Given the description of an element on the screen output the (x, y) to click on. 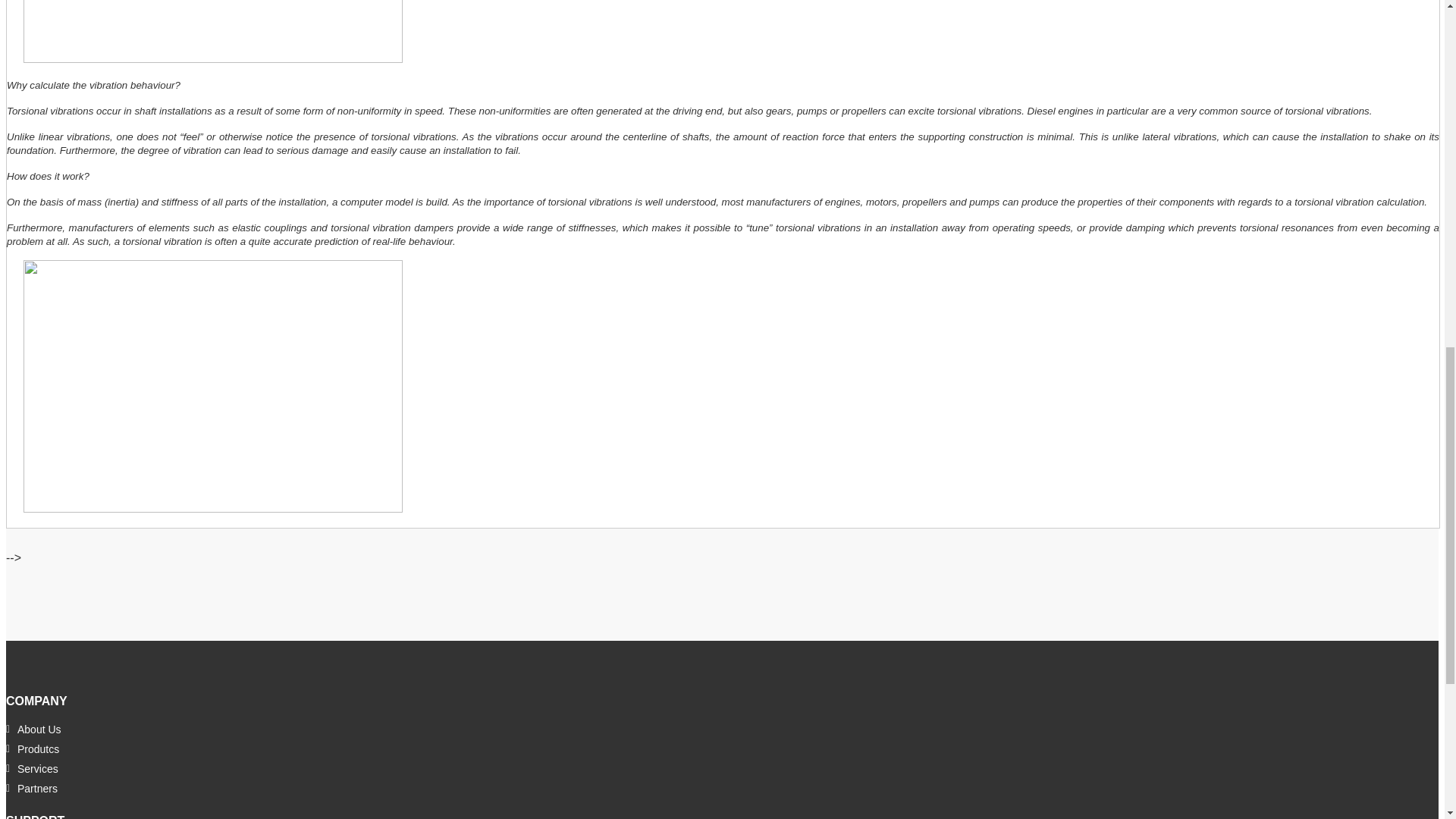
About Us (33, 729)
Services (31, 768)
Partners (31, 788)
Produtcs (32, 749)
